Given the description of an element on the screen output the (x, y) to click on. 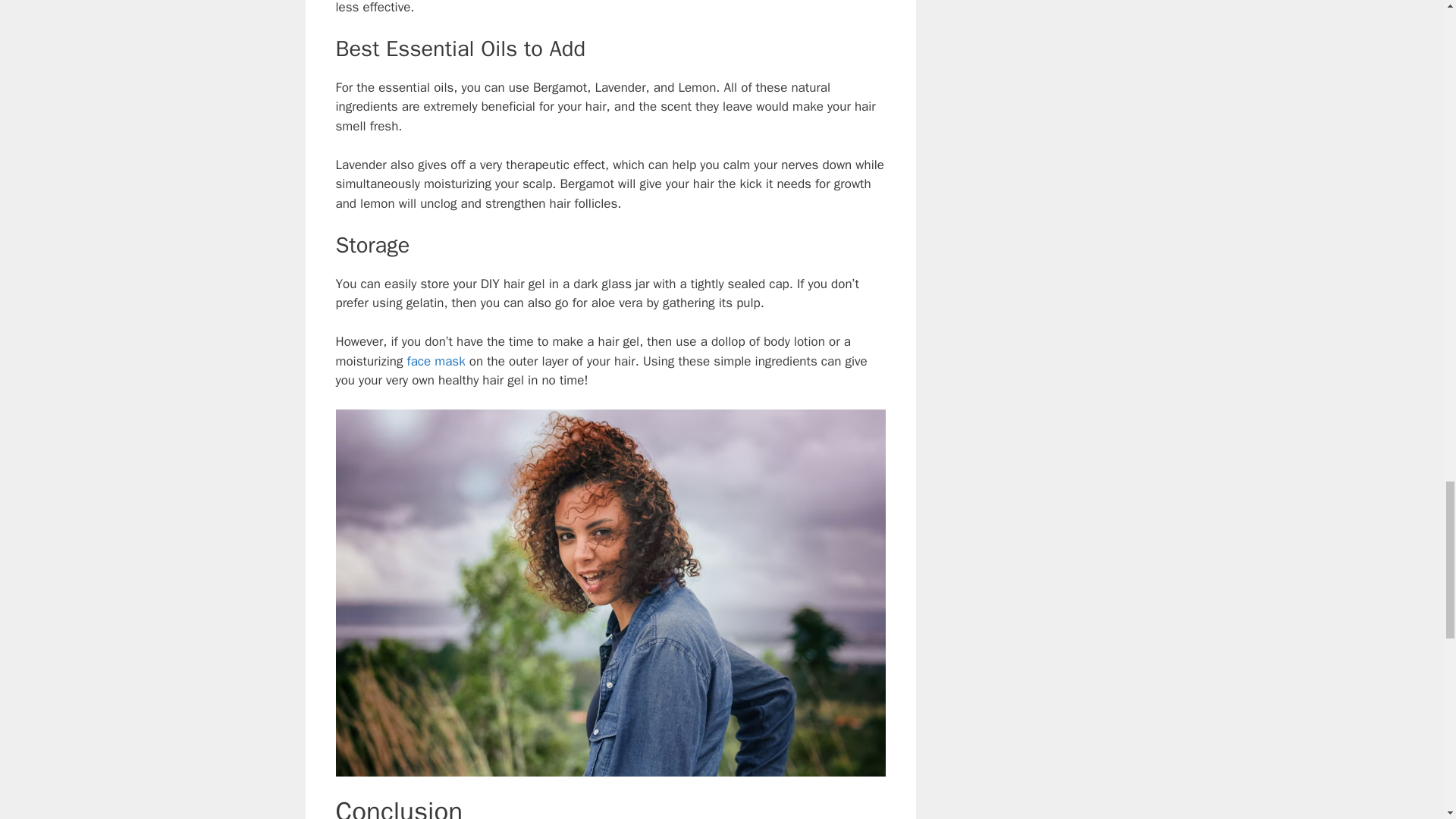
face mask (437, 360)
